Given the description of an element on the screen output the (x, y) to click on. 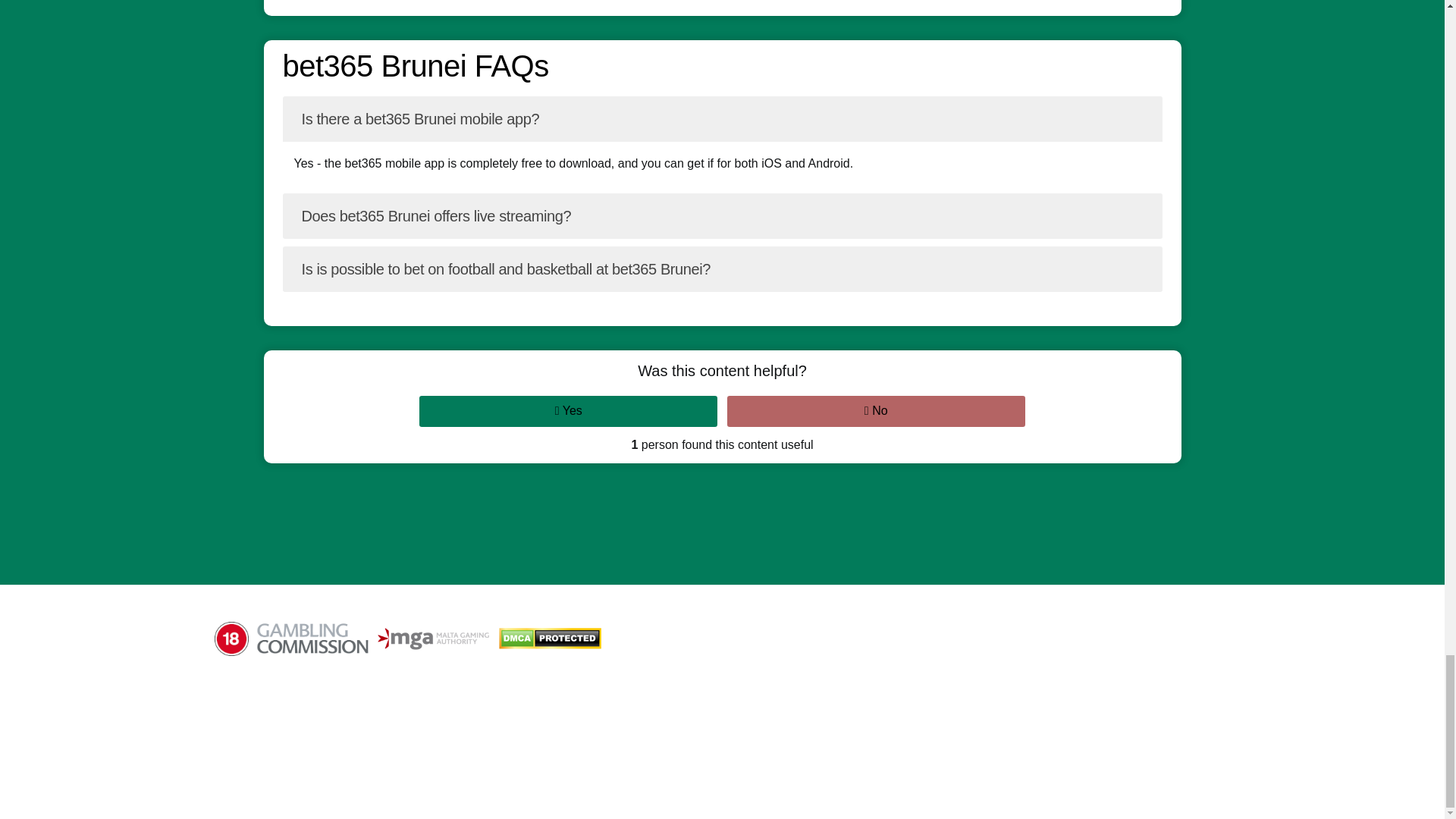
DMCA.com Protection Status (553, 638)
